Given the description of an element on the screen output the (x, y) to click on. 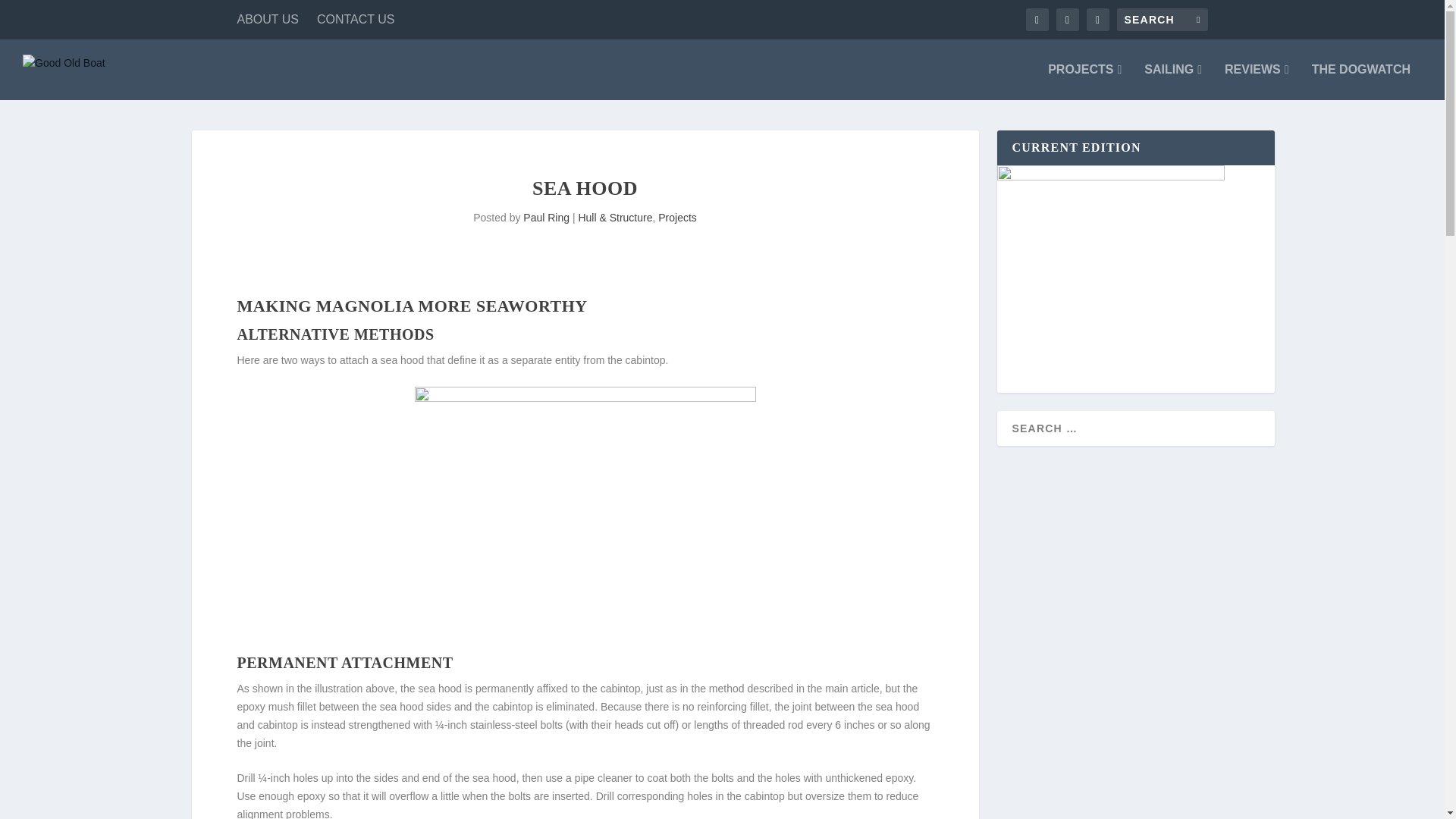
CONTACT US (355, 19)
SAILING (1173, 81)
Paul Ring (545, 217)
Projects (677, 217)
PROJECTS (1084, 81)
THE DOGWATCH (1360, 81)
Search for: (1161, 19)
ABOUT US (266, 19)
REVIEWS (1256, 81)
Posts by Paul Ring (545, 217)
